Given the description of an element on the screen output the (x, y) to click on. 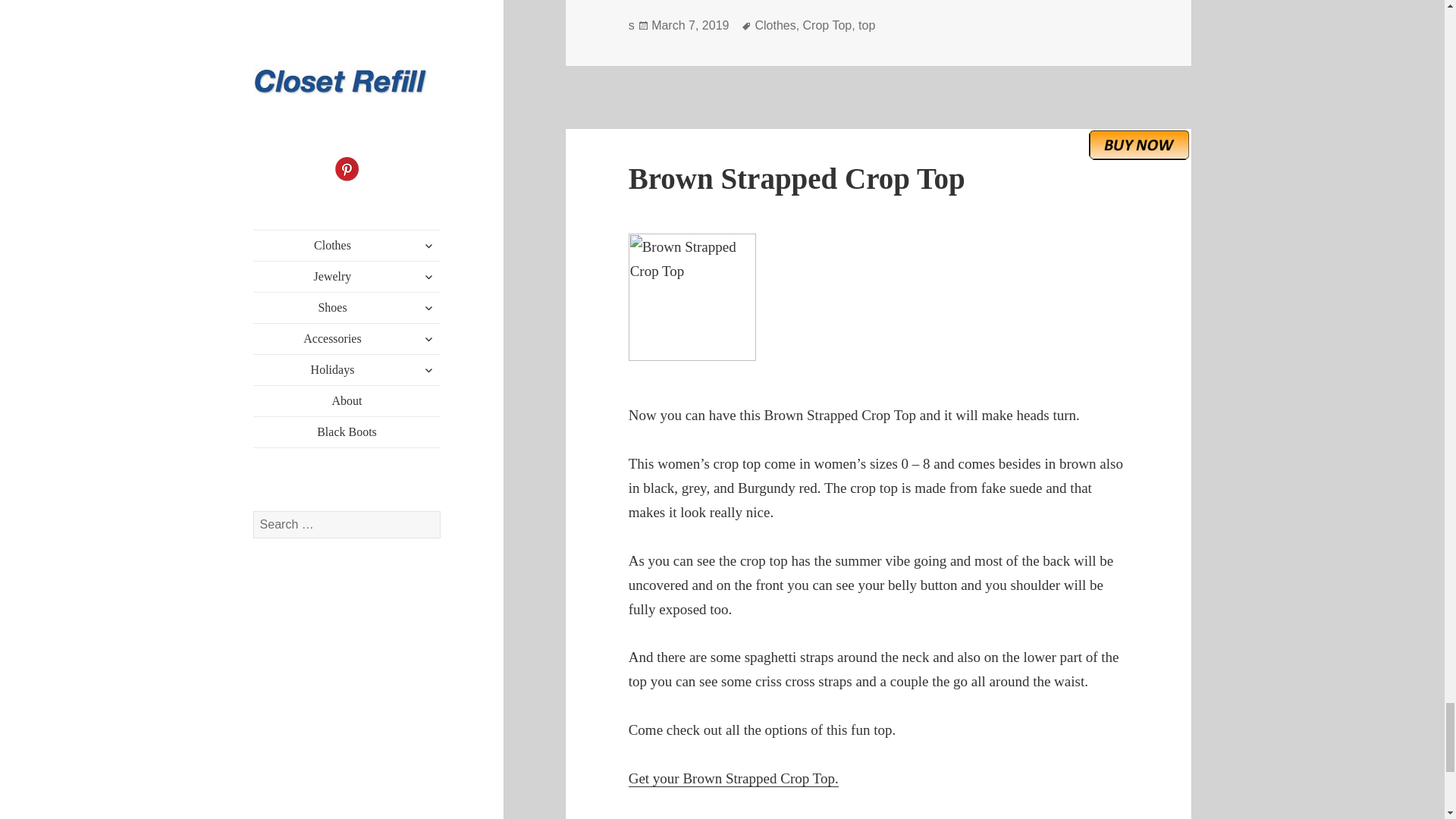
buy Brown Strapped Crop Top (1139, 144)
